Given the description of an element on the screen output the (x, y) to click on. 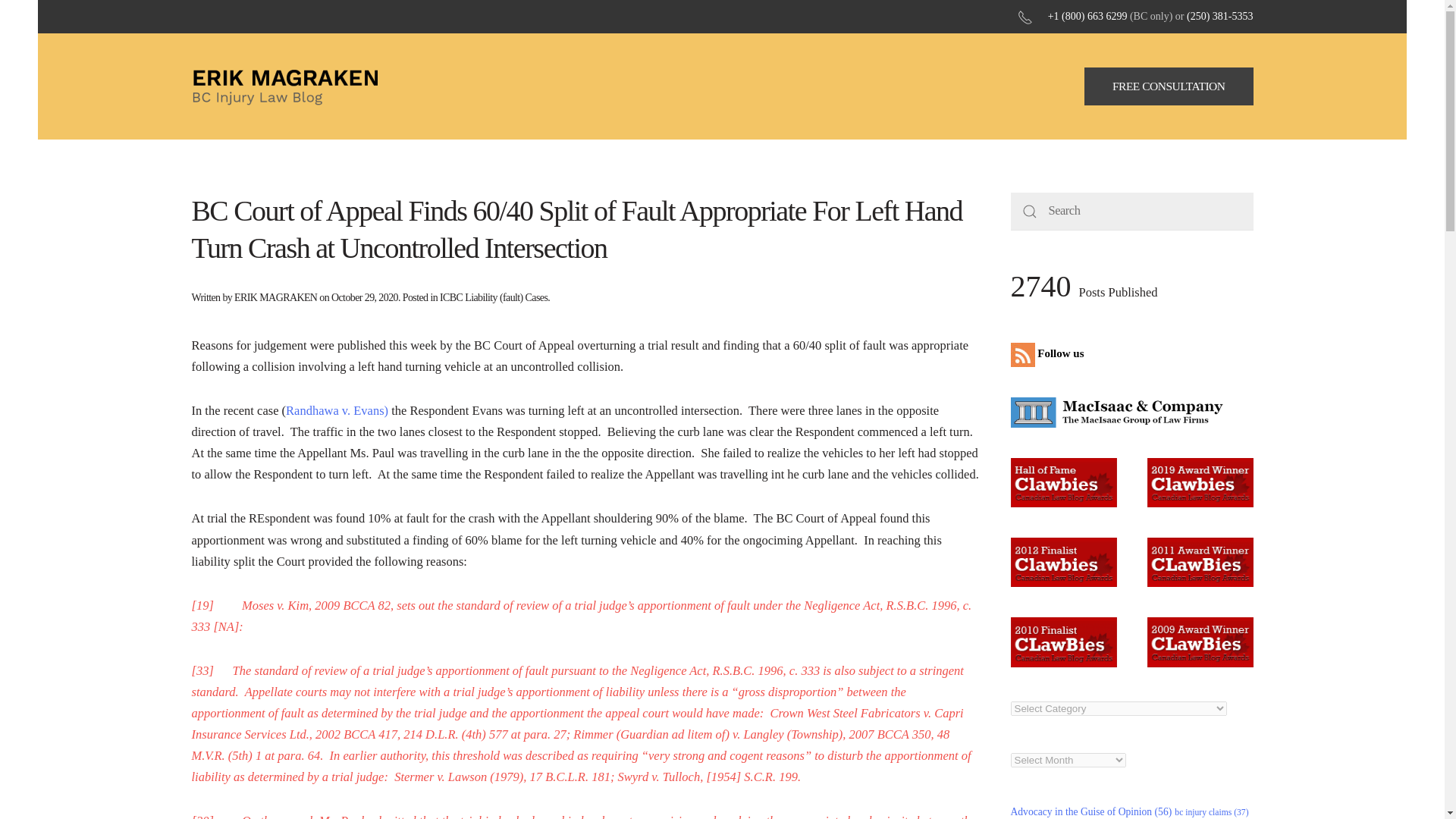
Follow us (1050, 353)
ERIK MAGRAKEN (275, 297)
FREE CONSULTATION (1168, 86)
